Given the description of an element on the screen output the (x, y) to click on. 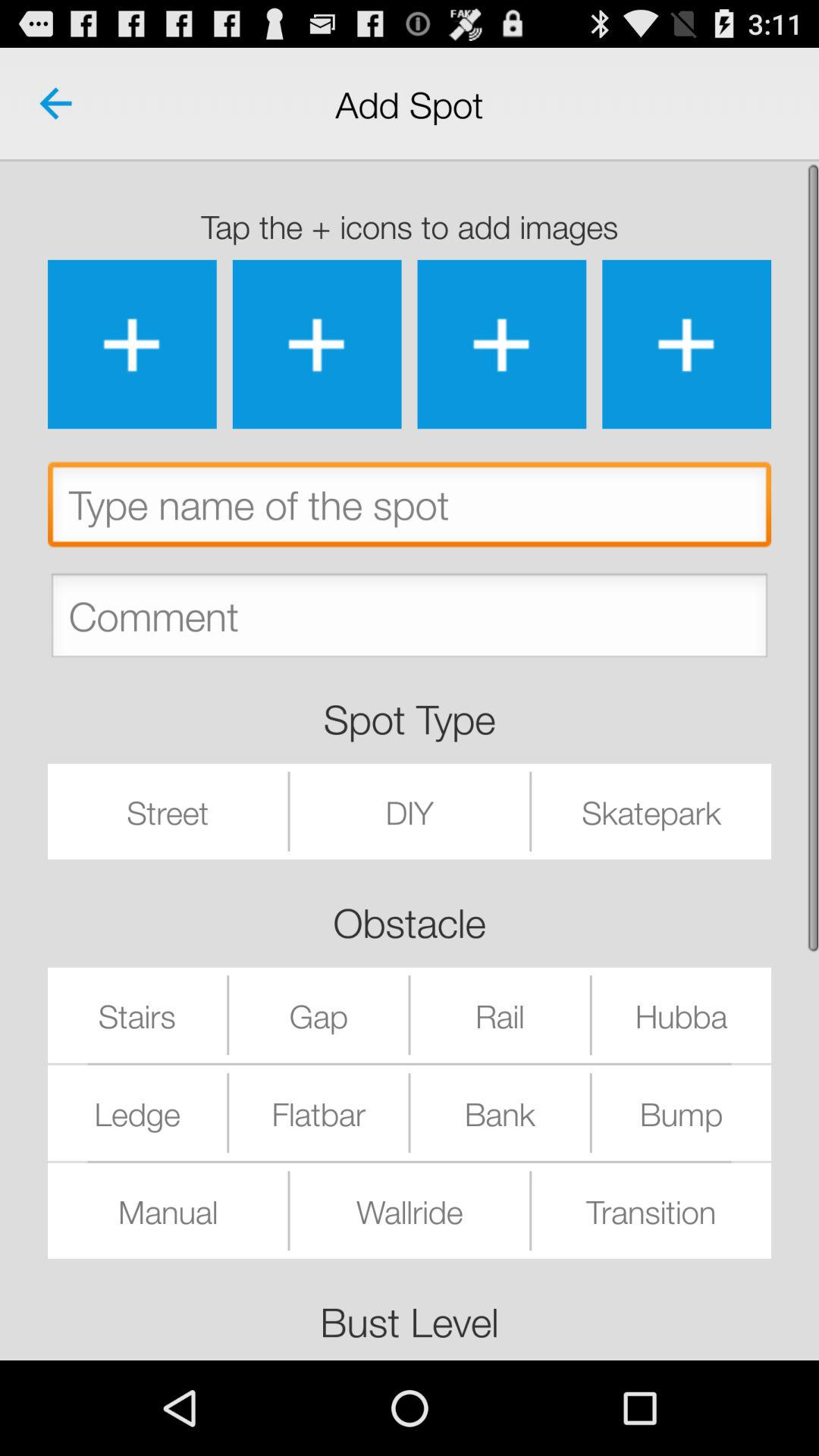
swipe to skatepark item (651, 811)
